Given the description of an element on the screen output the (x, y) to click on. 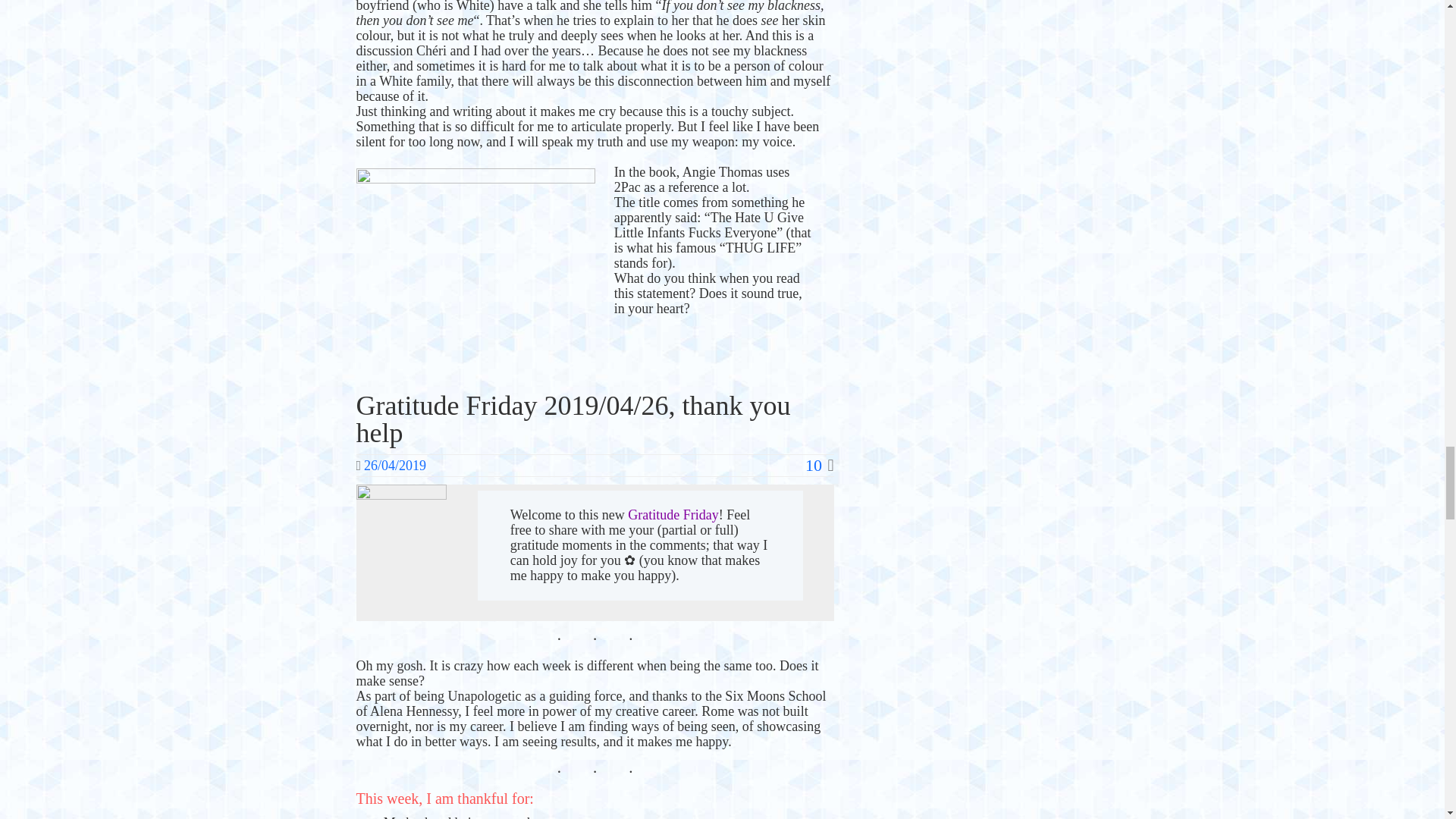
10 (819, 465)
Gratitude Friday (672, 514)
